Given the description of an element on the screen output the (x, y) to click on. 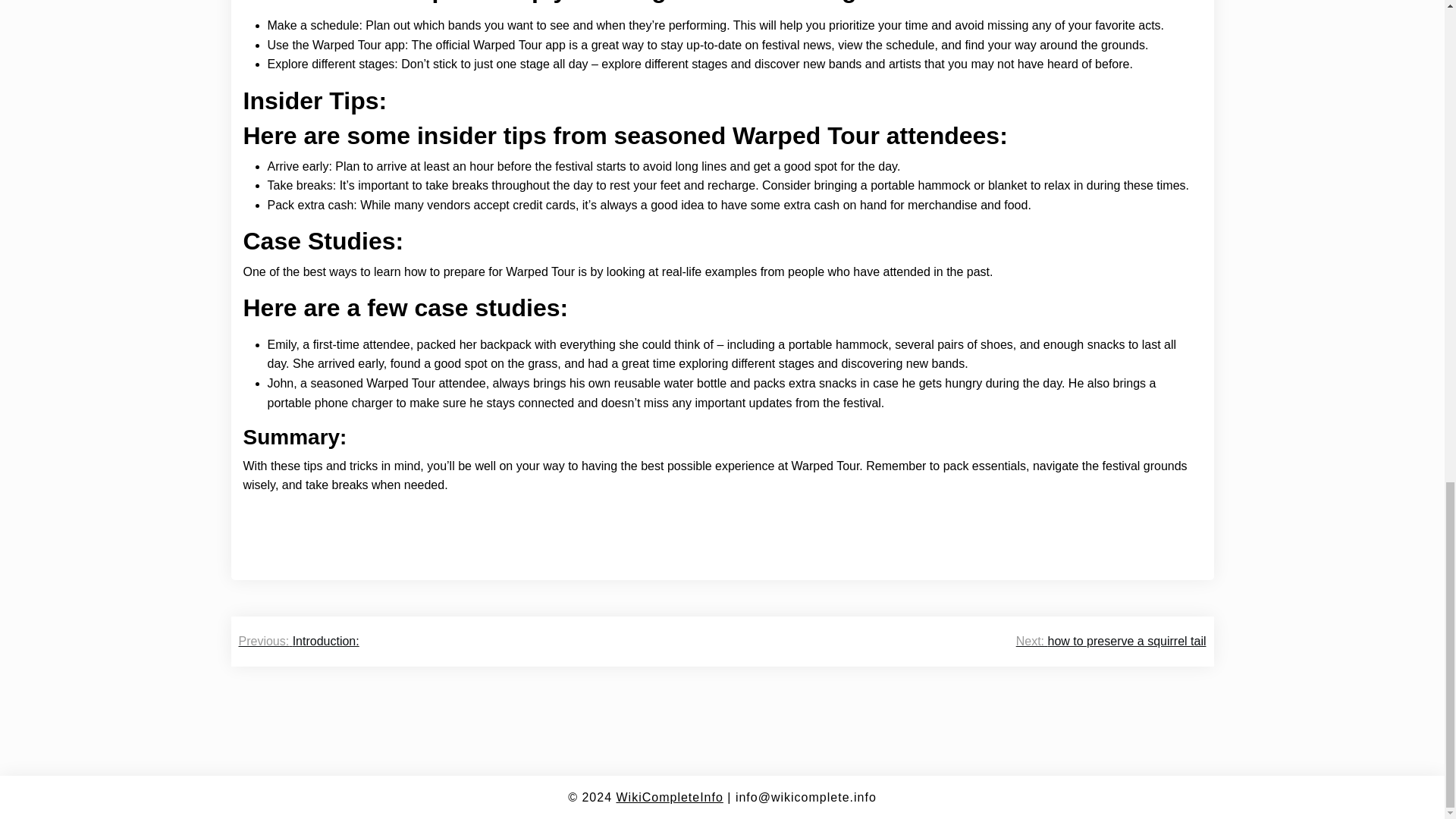
Previous: Introduction: (298, 641)
WikiCompleteInfo (668, 797)
Next: how to preserve a squirrel tail (1111, 641)
